Given the description of an element on the screen output the (x, y) to click on. 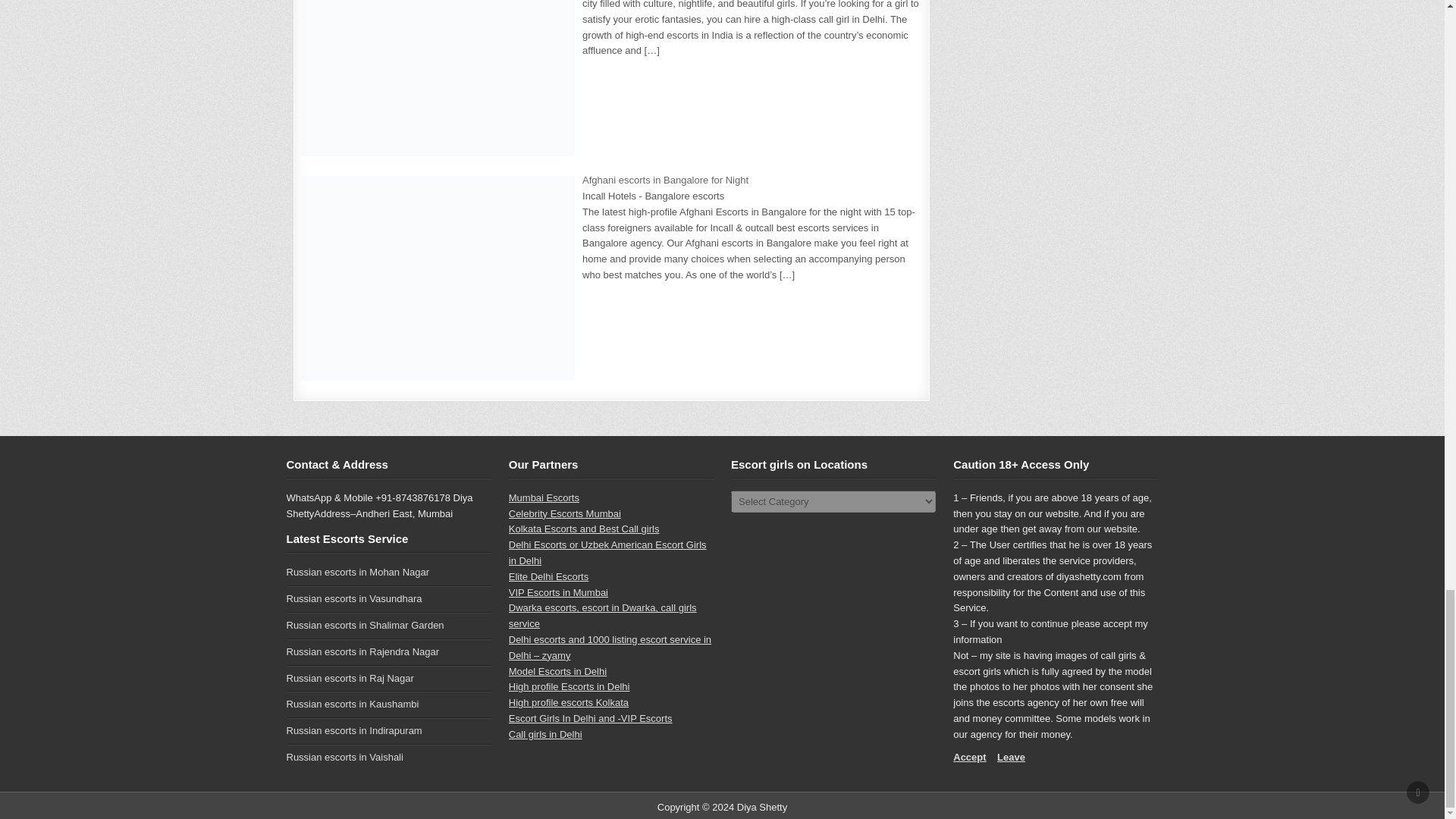
Afghani escorts in Bangalore for Night (665, 179)
